Given the description of an element on the screen output the (x, y) to click on. 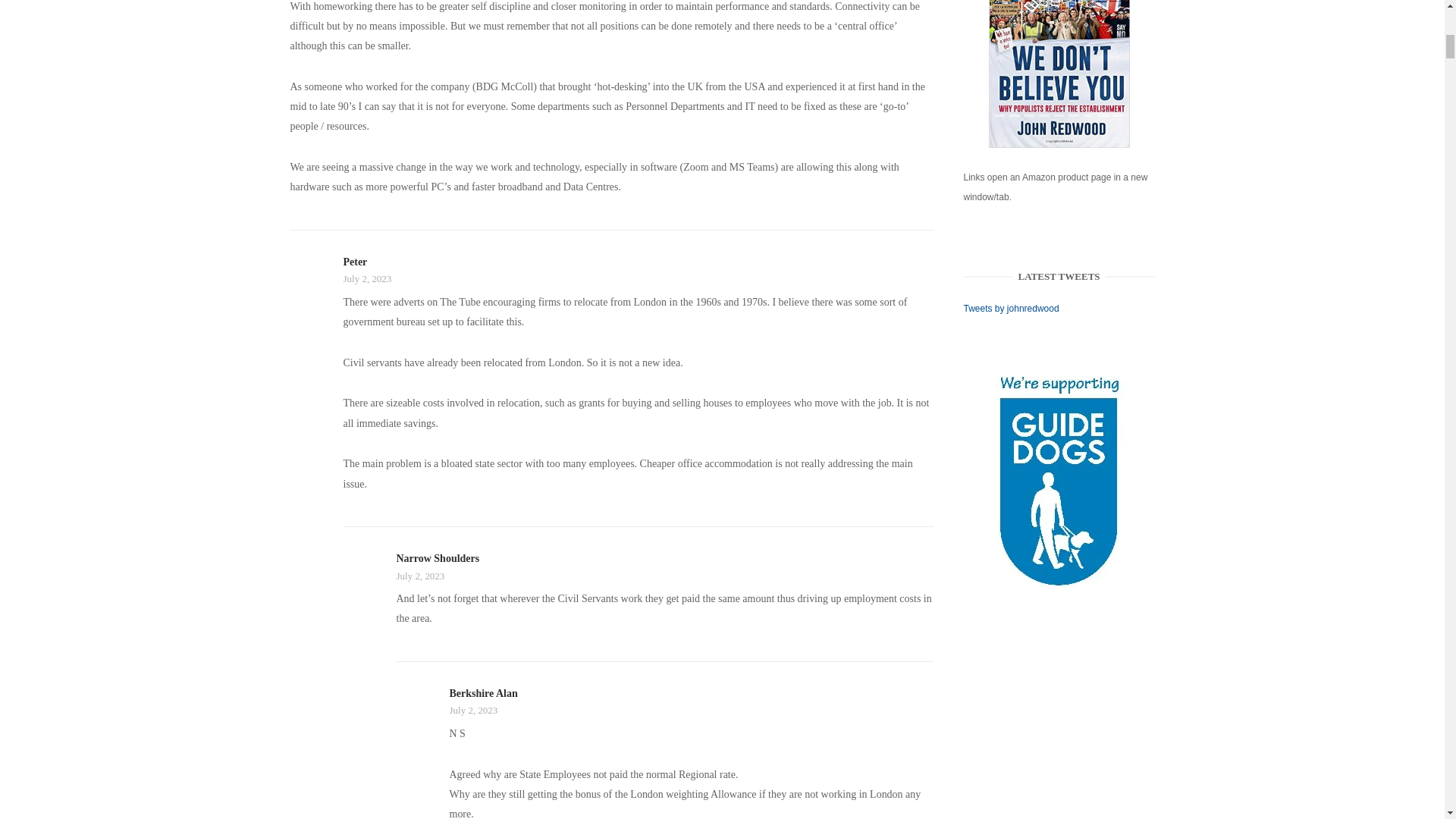
Boosting public sector productivity (1058, 74)
Tweets by johnredwood (1011, 308)
